Given the description of an element on the screen output the (x, y) to click on. 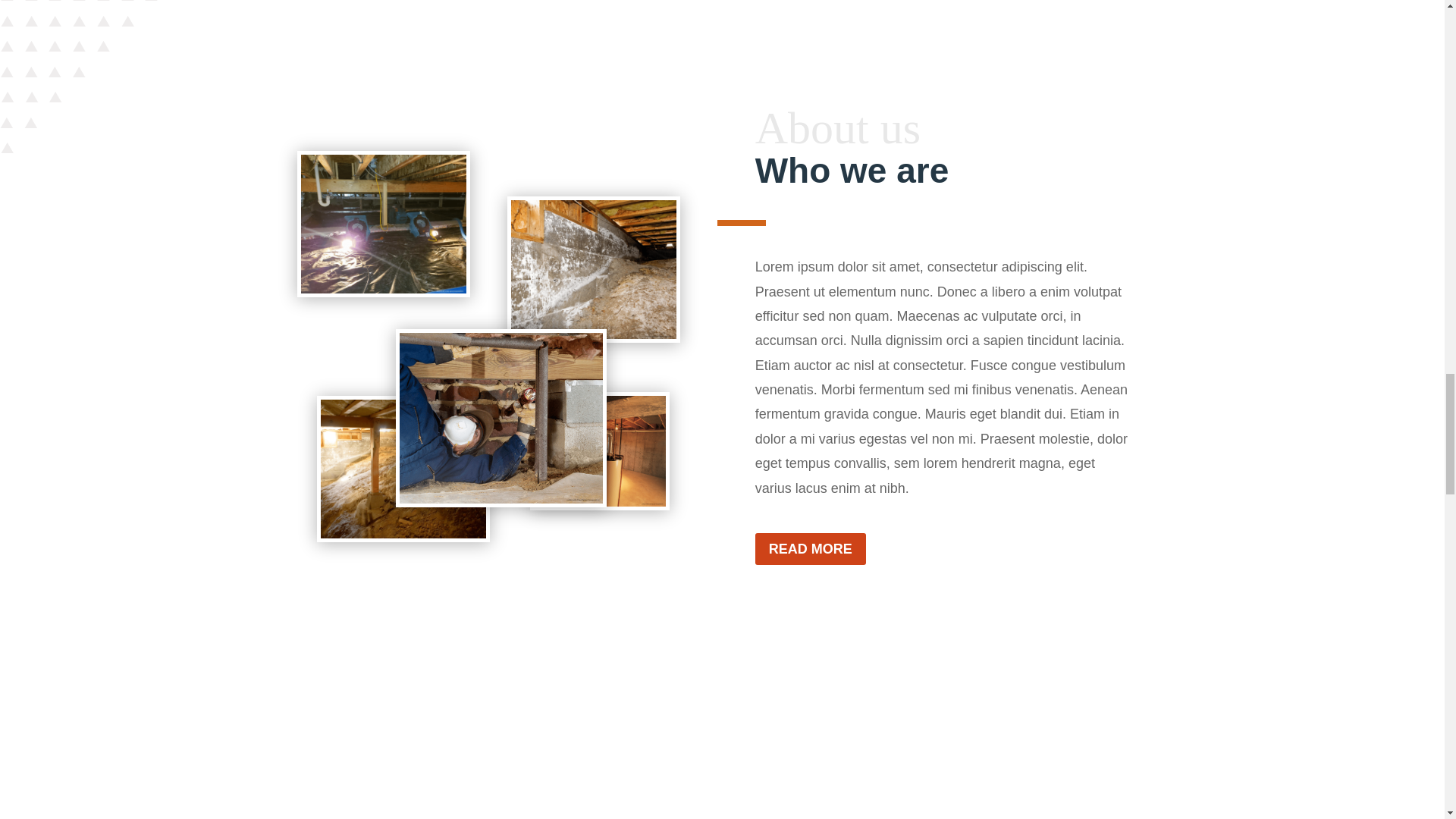
Jacksonville Crawl Space Encapsulation (403, 468)
READ MORE (810, 548)
Jacksonville Crawl Space Encapsulation (599, 450)
Jacksonville Crawl Space Encapsulation (594, 269)
Jacksonville Crawl Space Encapsulation (500, 417)
Jacksonville Crawl Space Encapsulation (382, 223)
